Given the description of an element on the screen output the (x, y) to click on. 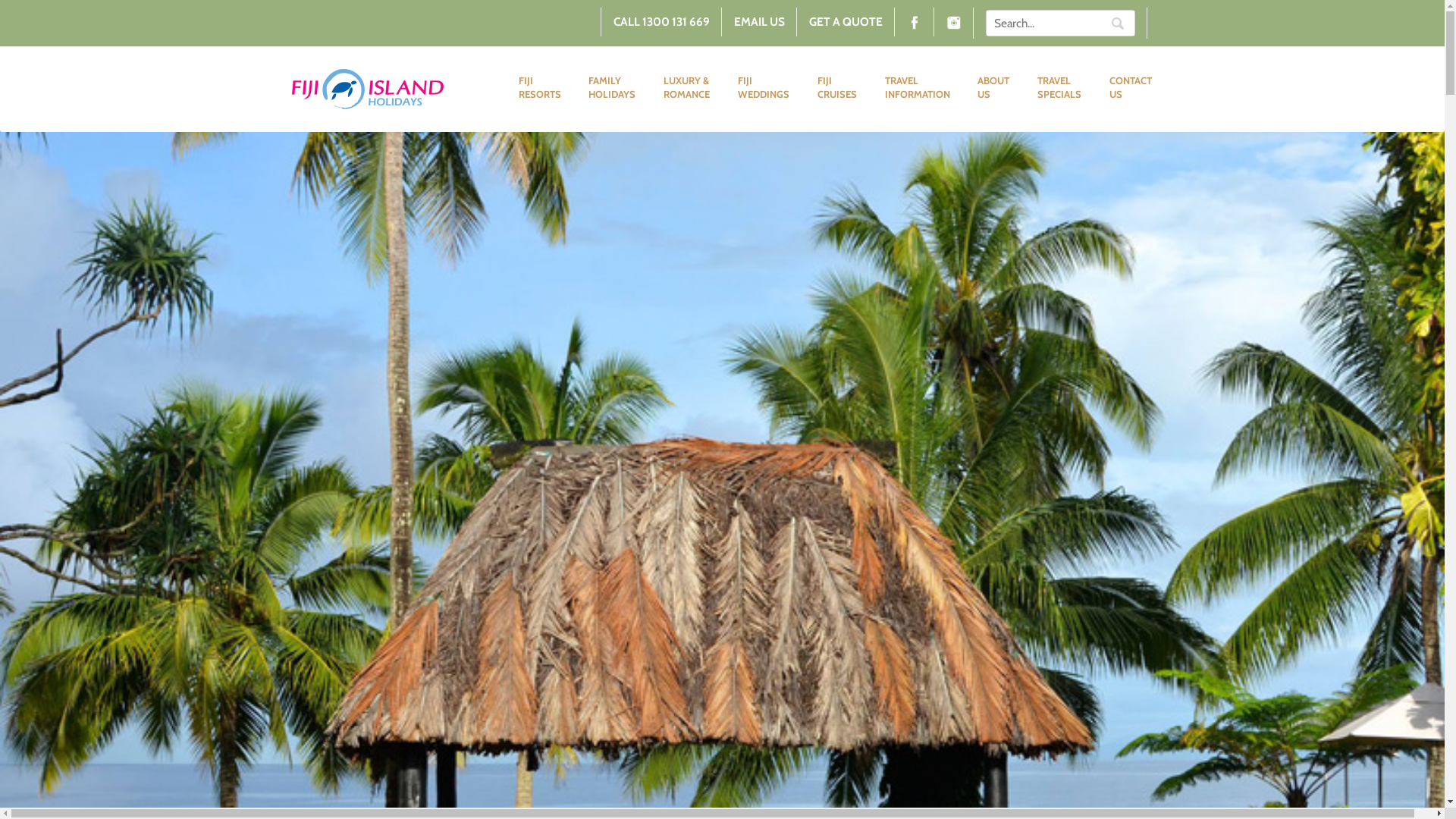
FIJI
RESORTS Element type: text (539, 87)
Search Element type: text (1117, 22)
FIJI
CRUISES Element type: text (836, 87)
LUXURY &
ROMANCE Element type: text (686, 87)
ABOUT
US Element type: text (993, 87)
CALL 1300 131 669 Element type: text (661, 21)
FAMILY
HOLIDAYS Element type: text (611, 87)
CONTACT
US Element type: text (1130, 87)
Package Deals & Travel Specials Element type: hover (367, 89)
TRAVEL
INFORMATION Element type: text (916, 87)
GET A QUOTE Element type: text (845, 21)
TRAVEL
SPECIALS Element type: text (1059, 87)
EMAIL US Element type: text (758, 21)
FIJI
WEDDINGS Element type: text (763, 87)
